Given the description of an element on the screen output the (x, y) to click on. 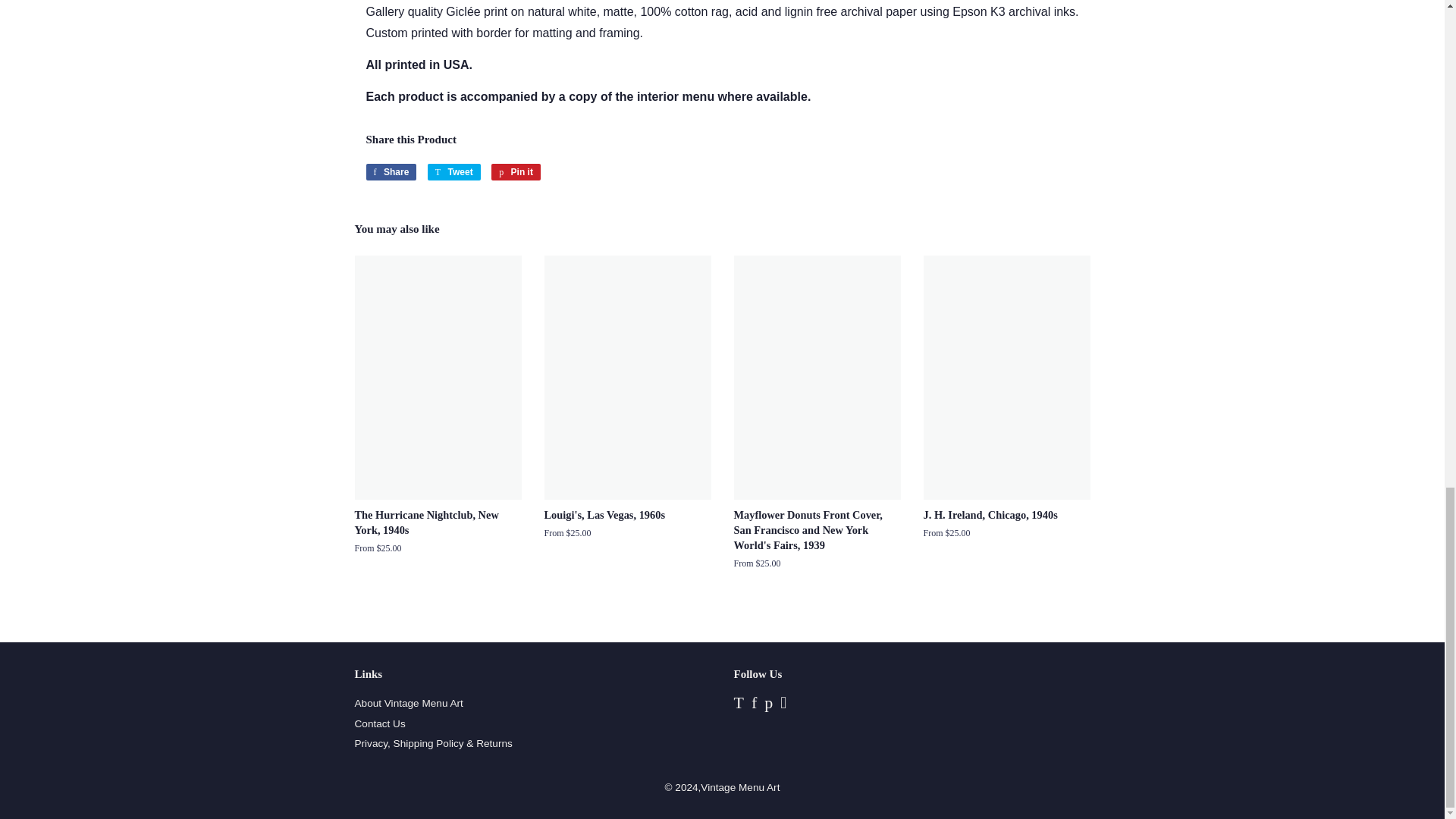
Pin on Pinterest (516, 171)
Tweet on Twitter (454, 171)
Share on Facebook (390, 171)
